Given the description of an element on the screen output the (x, y) to click on. 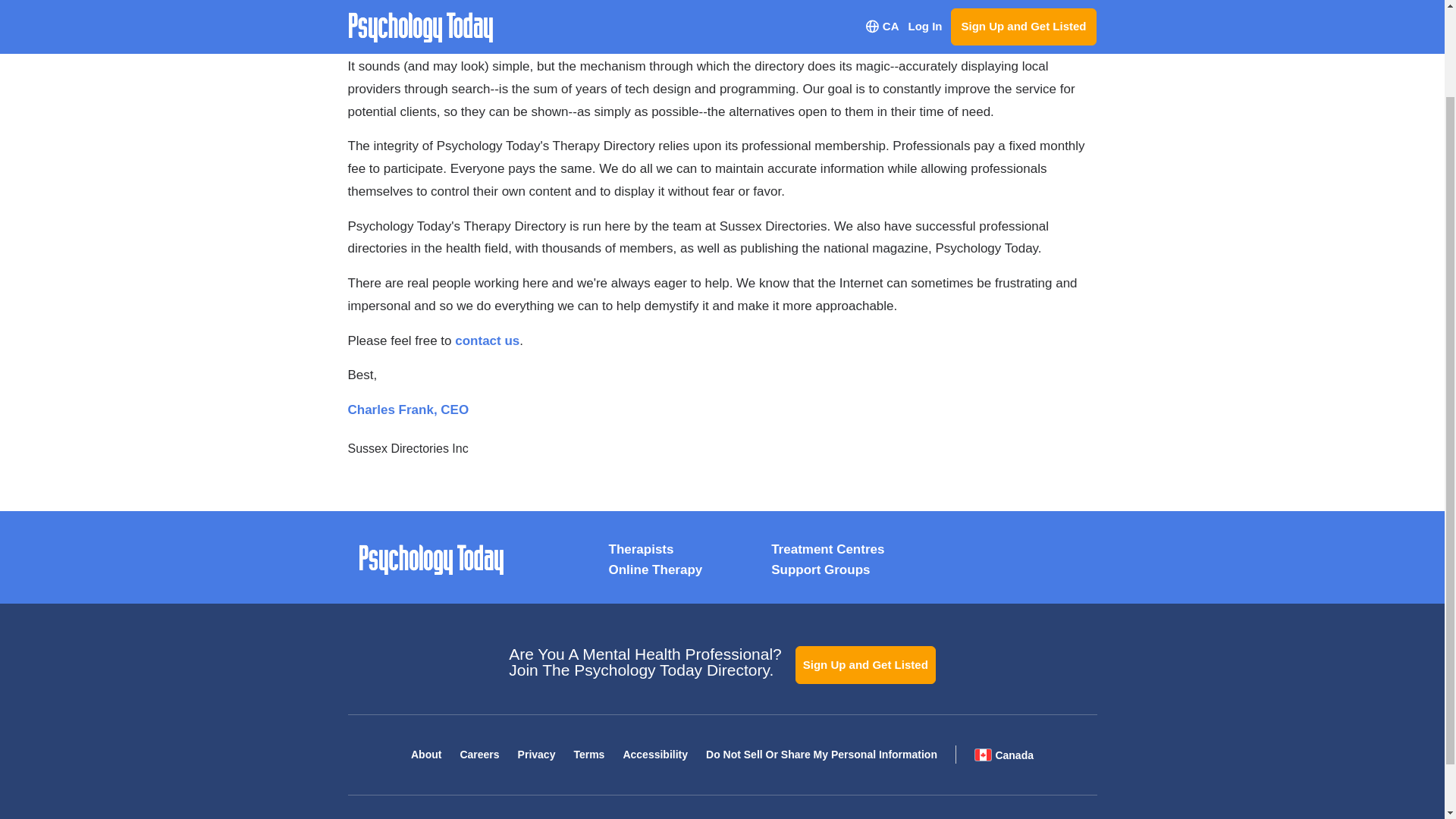
Find a Therapist (640, 549)
Charles Frank, CEO (407, 409)
Careers (479, 754)
Terms (588, 754)
Treatment Centres (827, 549)
Find a Treatment Centre (827, 549)
Therapists (640, 549)
Do Not Sell Or Share My Personal Information (821, 754)
Find Online Therapy - Phone, Video and Online Counselling (654, 569)
Psychology Today (431, 559)
Sign Up and Get Listed (865, 664)
Psychology Today (431, 559)
Privacy (537, 754)
Support Groups (820, 569)
Canada (1003, 753)
